Given the description of an element on the screen output the (x, y) to click on. 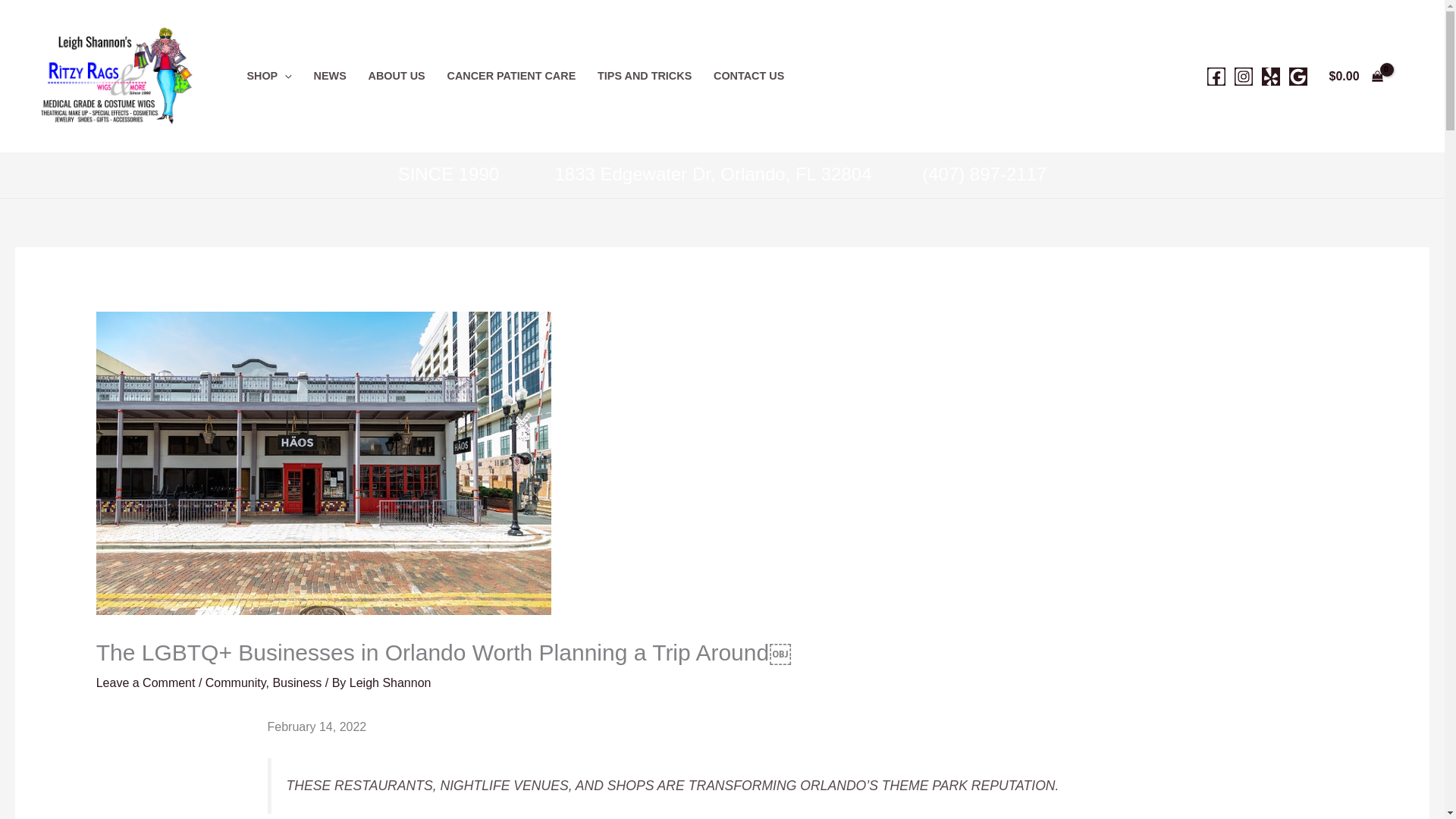
ABOUT US (395, 75)
SHOP (268, 75)
CANCER PATIENT CARE (510, 75)
TIPS AND TRICKS (644, 75)
View all posts by Leigh Shannon (389, 682)
NEWS (329, 75)
CONTACT US (748, 75)
